Given the description of an element on the screen output the (x, y) to click on. 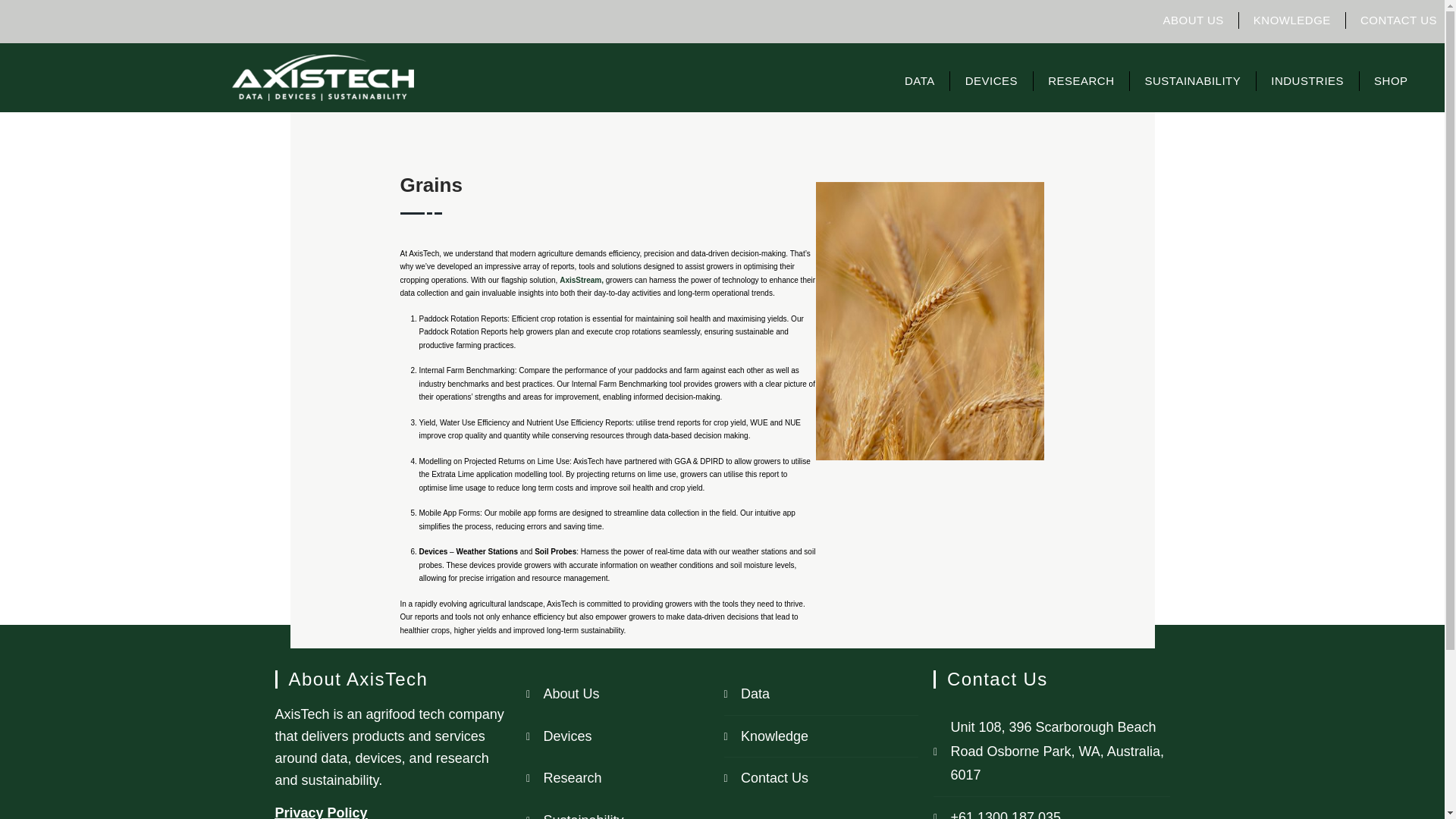
INDUSTRIES (1307, 81)
SUSTAINABILITY (1192, 81)
CONTACT US (1398, 20)
ABOUT US (1192, 20)
KNOWLEDGE (1291, 20)
DEVICES (991, 81)
RESEARCH (1080, 81)
